Given the description of an element on the screen output the (x, y) to click on. 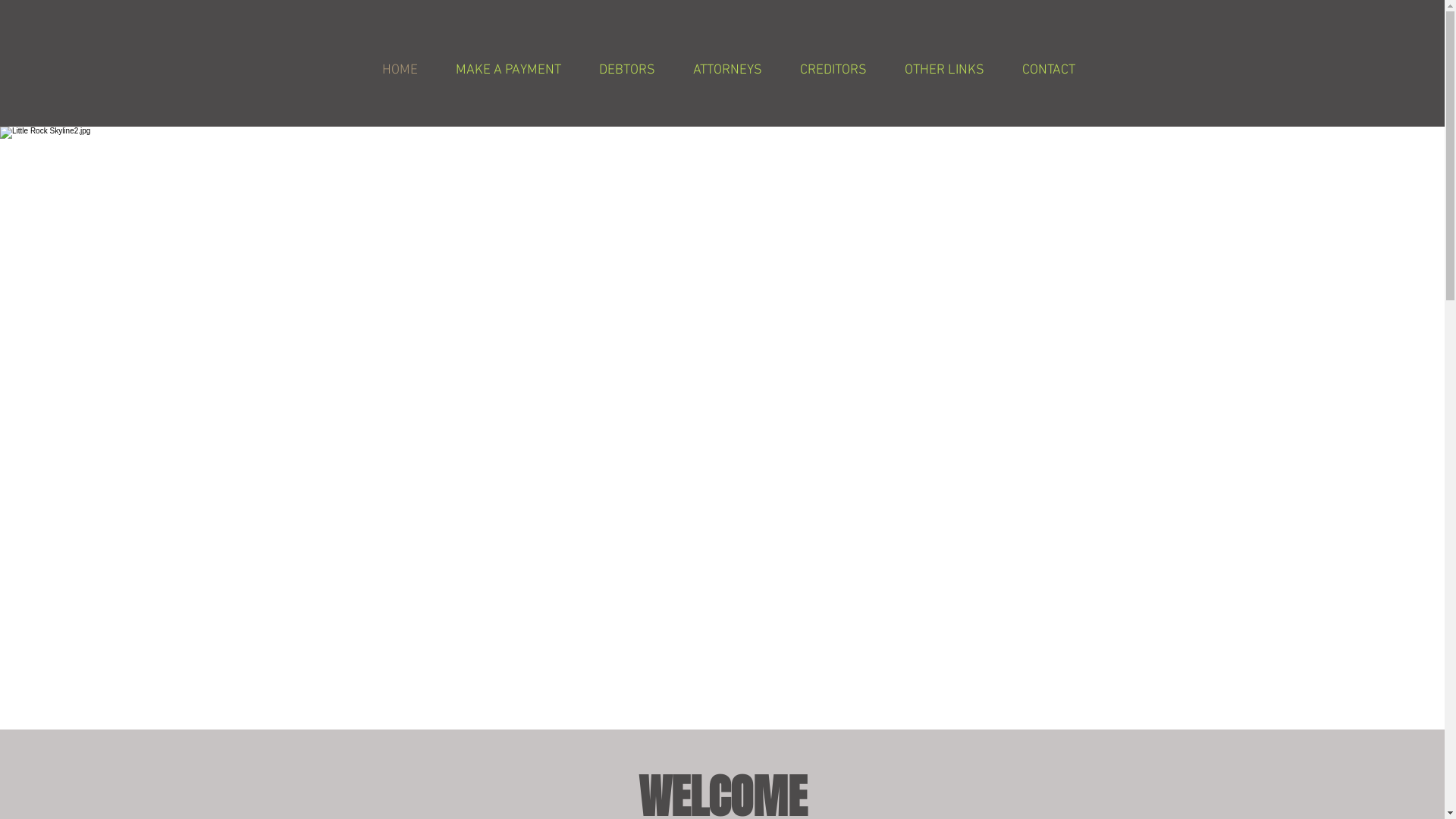
HOME Element type: text (399, 69)
CONTACT Element type: text (1047, 69)
MAKE A PAYMENT Element type: text (508, 69)
